Given the description of an element on the screen output the (x, y) to click on. 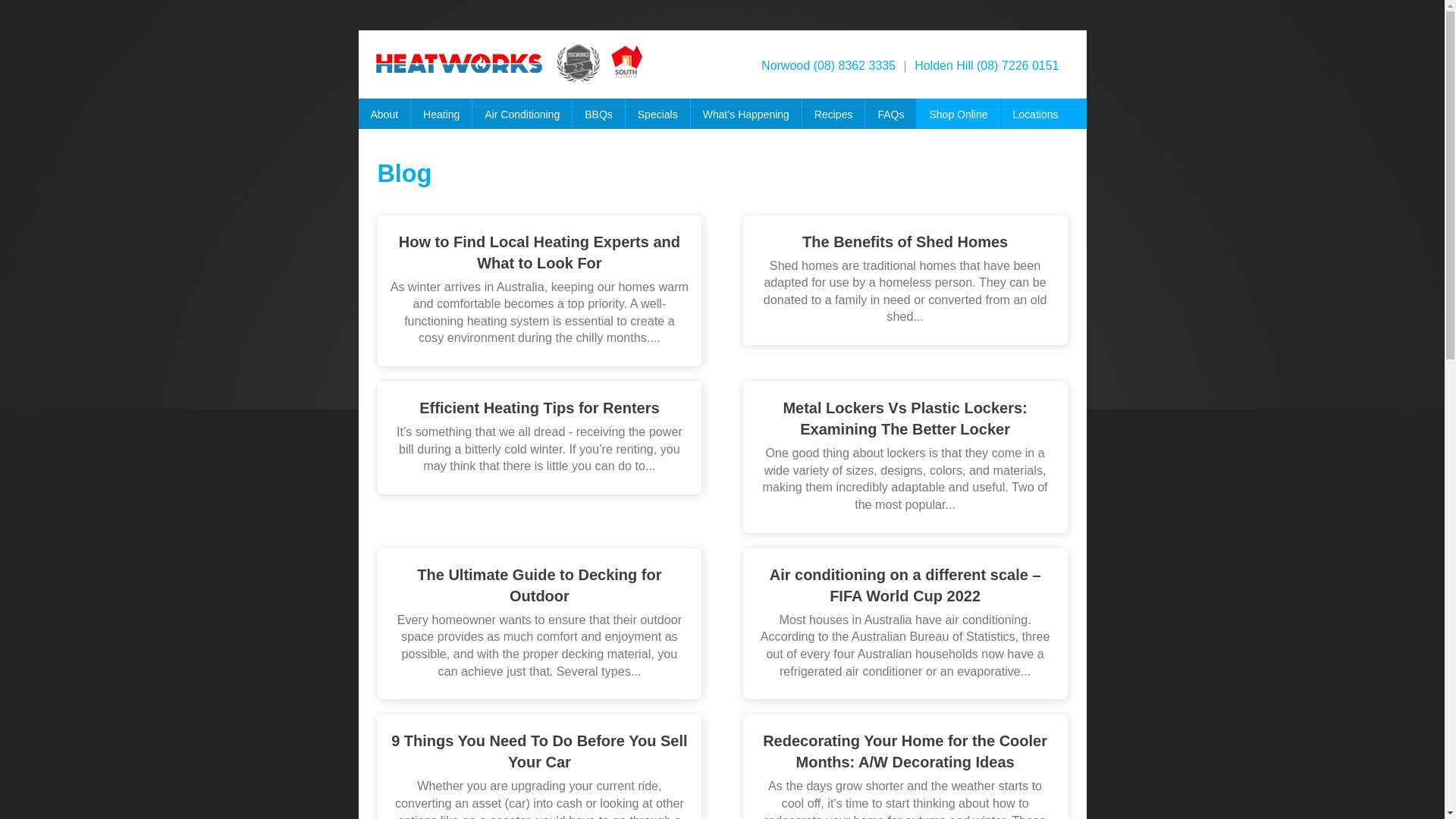
About Element type: text (384, 118)
The Benefits of Shed Homes Element type: text (905, 241)
Air Conditioning Element type: text (522, 118)
9 Things You Need To Do Before You Sell Your Car Element type: text (538, 751)
How to Find Local Heating Experts and What to Look For Element type: text (538, 252)
Efficient Heating Tips for Renters Element type: text (538, 407)
Recipes Element type: text (834, 118)
Specials Element type: text (657, 118)
Norwood (08) 8362 3335 Element type: text (828, 65)
The Ultimate Guide to Decking for Outdoor Element type: text (538, 585)
Locations Element type: text (1044, 118)
BBQs Element type: text (598, 118)
Heating Element type: text (441, 118)
Shop Online Element type: text (958, 118)
Holden Hill (08) 7226 0151 Element type: text (986, 65)
FAQs Element type: text (890, 118)
